Given the description of an element on the screen output the (x, y) to click on. 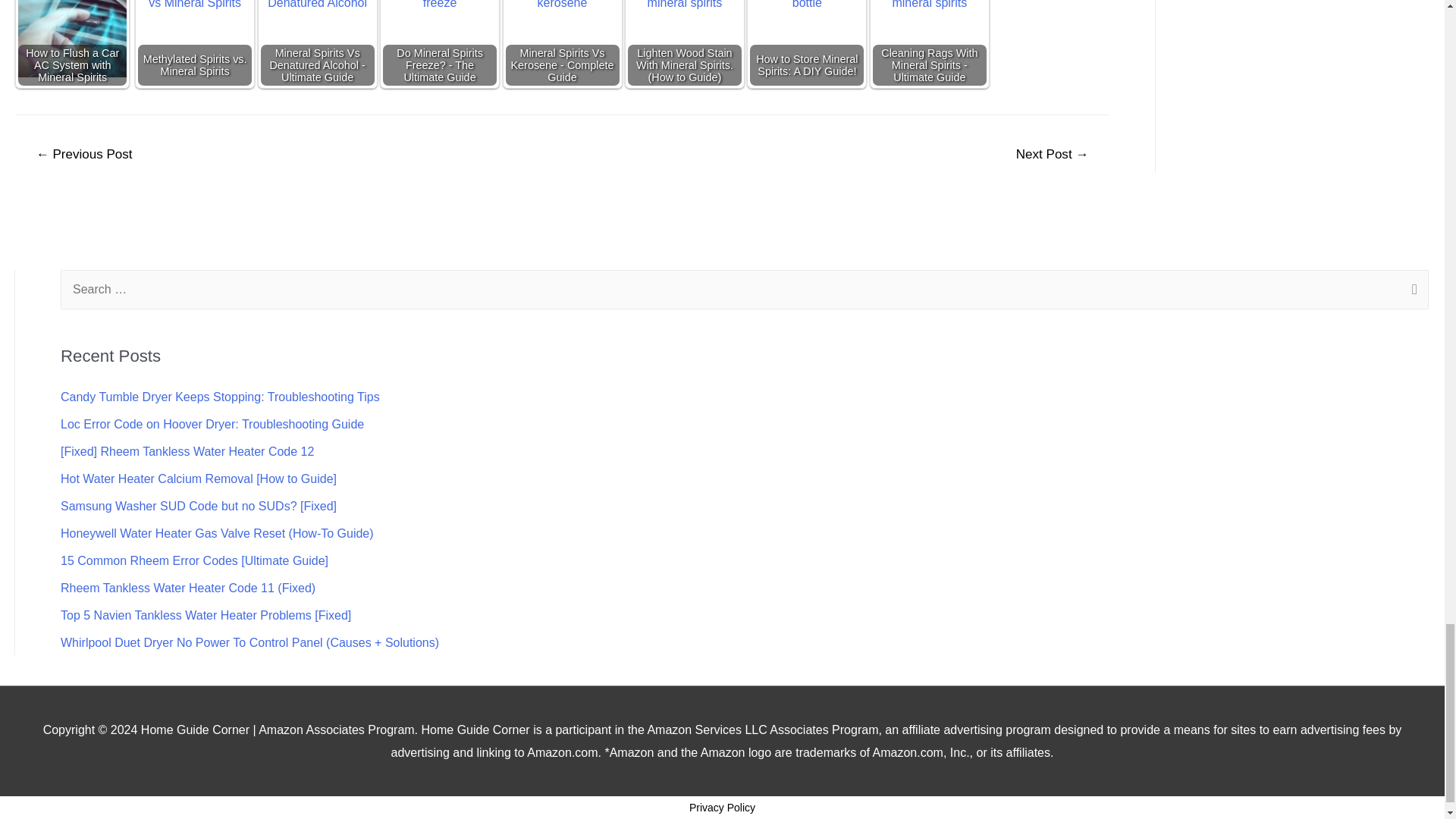
Mineral Spirits Vs Kerosene - Complete Guide (561, 41)
Mineral Spirits Vs Denatured Alcohol - Ultimate Guide (317, 41)
Methylated Spirits vs. Mineral Spirits (194, 41)
Cleaning Rags With Mineral Spirits - Ultimate Guide (929, 41)
How to Flush a Car AC System with Mineral Spirits (71, 38)
Do Mineral Spirits Freeze? - The Ultimate Guide (439, 41)
How to Store Mineral Spirits: A DIY Guide! (806, 41)
